Given the description of an element on the screen output the (x, y) to click on. 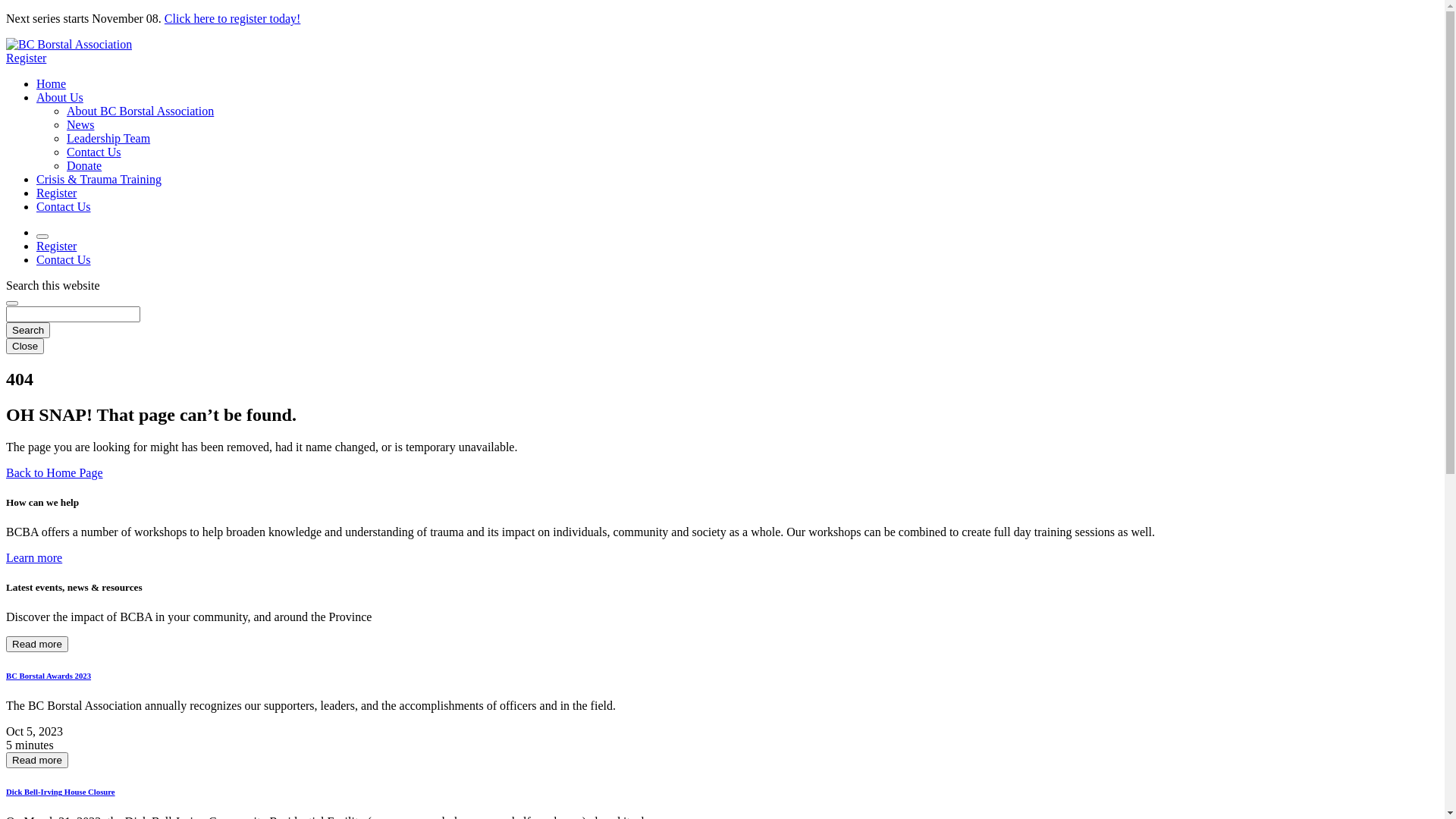
Back to Home Page Element type: text (54, 472)
About Us Element type: text (59, 97)
BC Borstal Association Home Page Element type: hover (68, 43)
Contact Us Element type: text (63, 206)
Read more Element type: text (37, 759)
Home Element type: text (50, 83)
Learn more Element type: text (34, 557)
Read more Element type: text (37, 643)
Dick Bell-Irving House Closure Element type: text (60, 791)
Contact Us Element type: text (63, 259)
Leadership Team Element type: text (108, 137)
Read more Element type: text (37, 760)
Register Element type: text (26, 57)
Read more Element type: text (37, 644)
About BC Borstal Association Element type: text (139, 110)
Register Element type: text (56, 192)
Register Element type: text (56, 245)
Crisis & Trauma Training Element type: text (98, 178)
News Element type: text (80, 124)
Click here to register today! Element type: text (232, 18)
BC Borstal Awards 2023 Element type: text (48, 675)
Search Element type: text (28, 330)
Close Element type: text (24, 346)
Donate Element type: text (83, 165)
Contact Us Element type: text (93, 151)
